Given the description of an element on the screen output the (x, y) to click on. 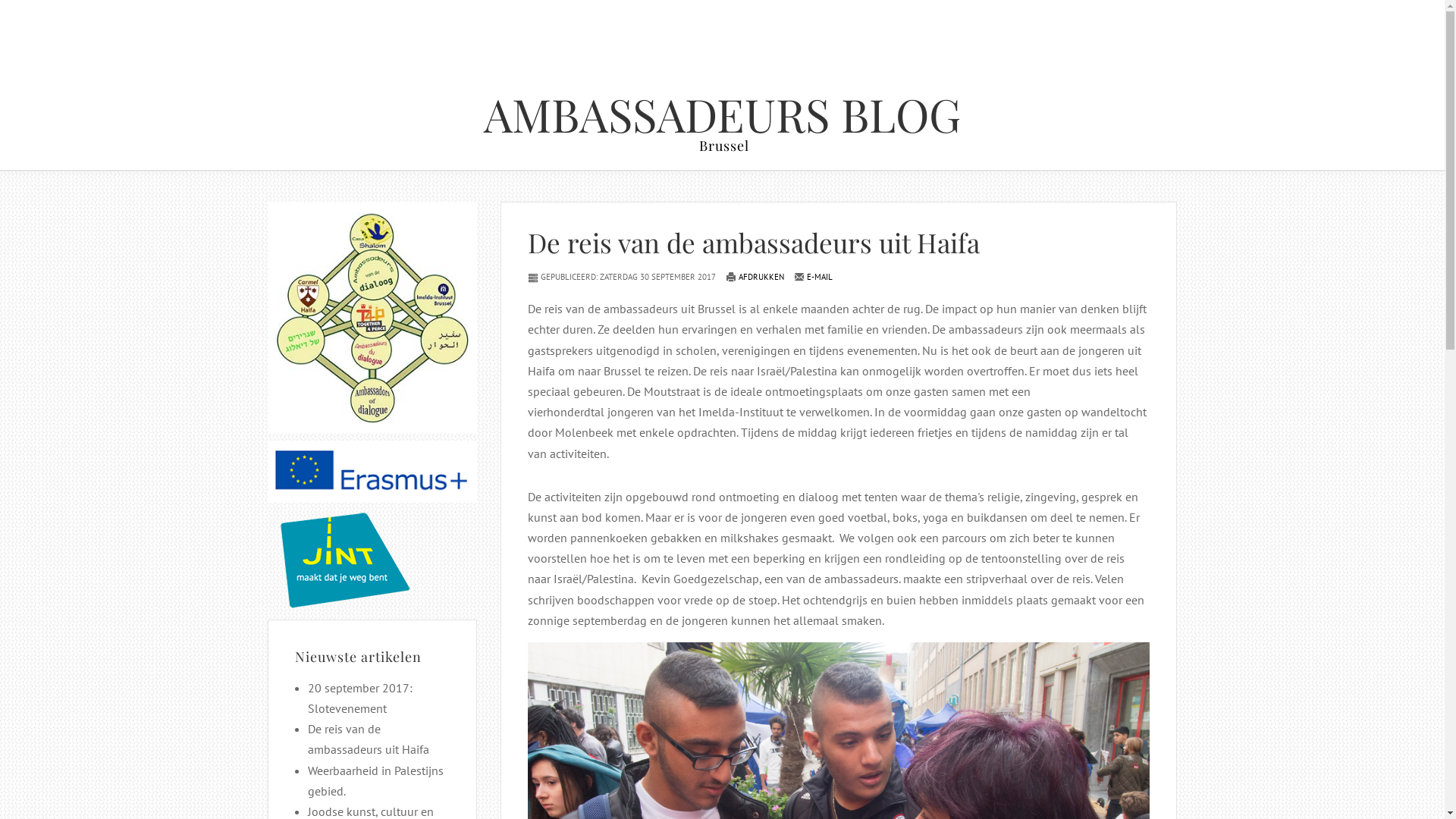
De reis van de ambassadeurs uit Haifa Element type: text (368, 738)
AFDRUKKEN Element type: text (754, 276)
Weerbaarheid in Palestijns gebied. Element type: text (375, 780)
De reis van de ambassadeurs uit Haifa Element type: text (753, 242)
E-MAIL Element type: text (812, 276)
AMBASSADEURS BLOG
Brussel Element type: text (721, 122)
20 september 2017: Slotevenement Element type: text (359, 697)
